Given the description of an element on the screen output the (x, y) to click on. 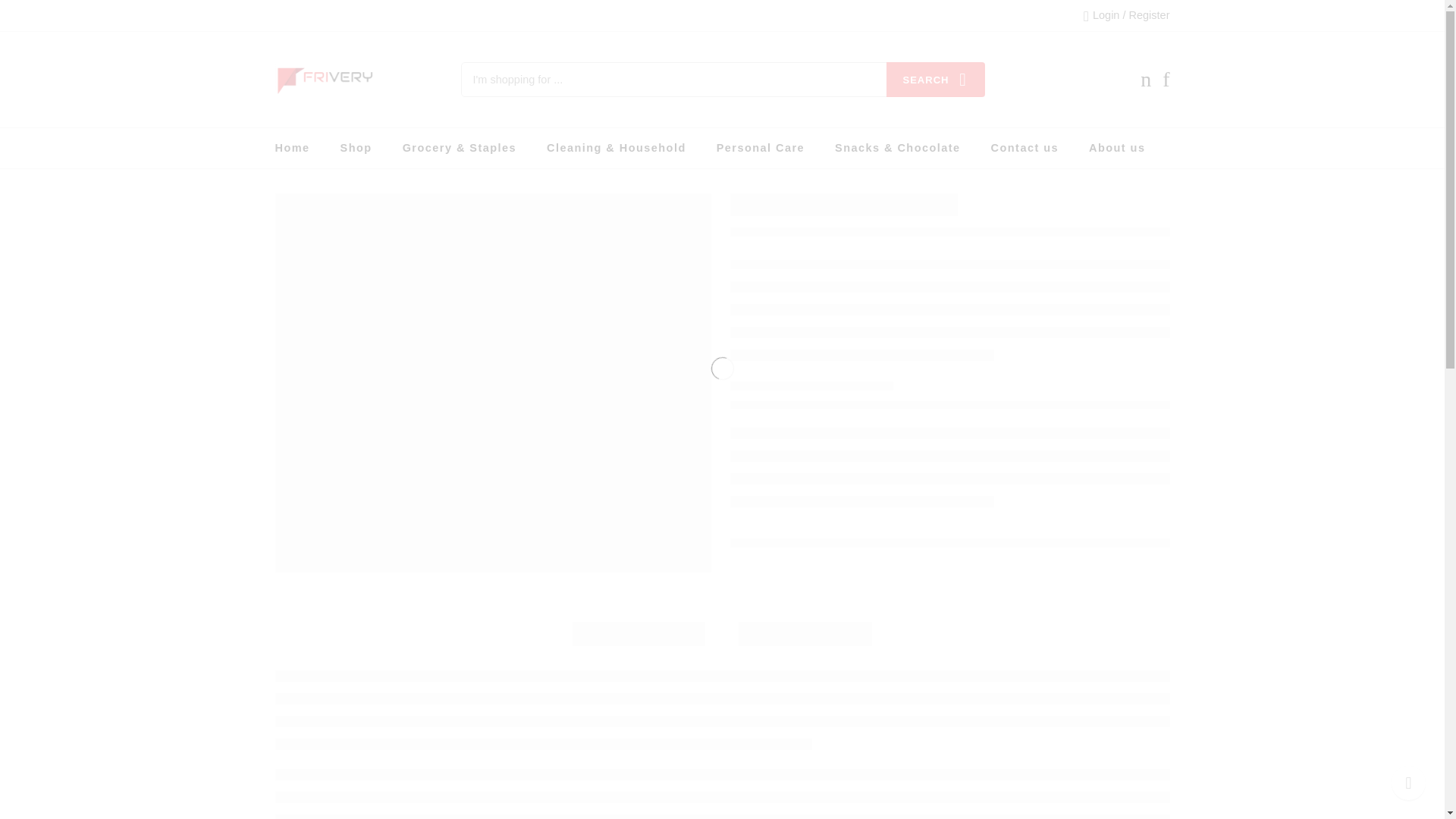
16881 (886, 814)
Contact us (1024, 147)
Personal Care (760, 147)
SEARCH (934, 79)
Personal Care (760, 147)
About us (1116, 147)
Contact us (1024, 147)
About us (1116, 147)
frivery.in - Everything Store For Your Everyday Needs (325, 79)
